Given the description of an element on the screen output the (x, y) to click on. 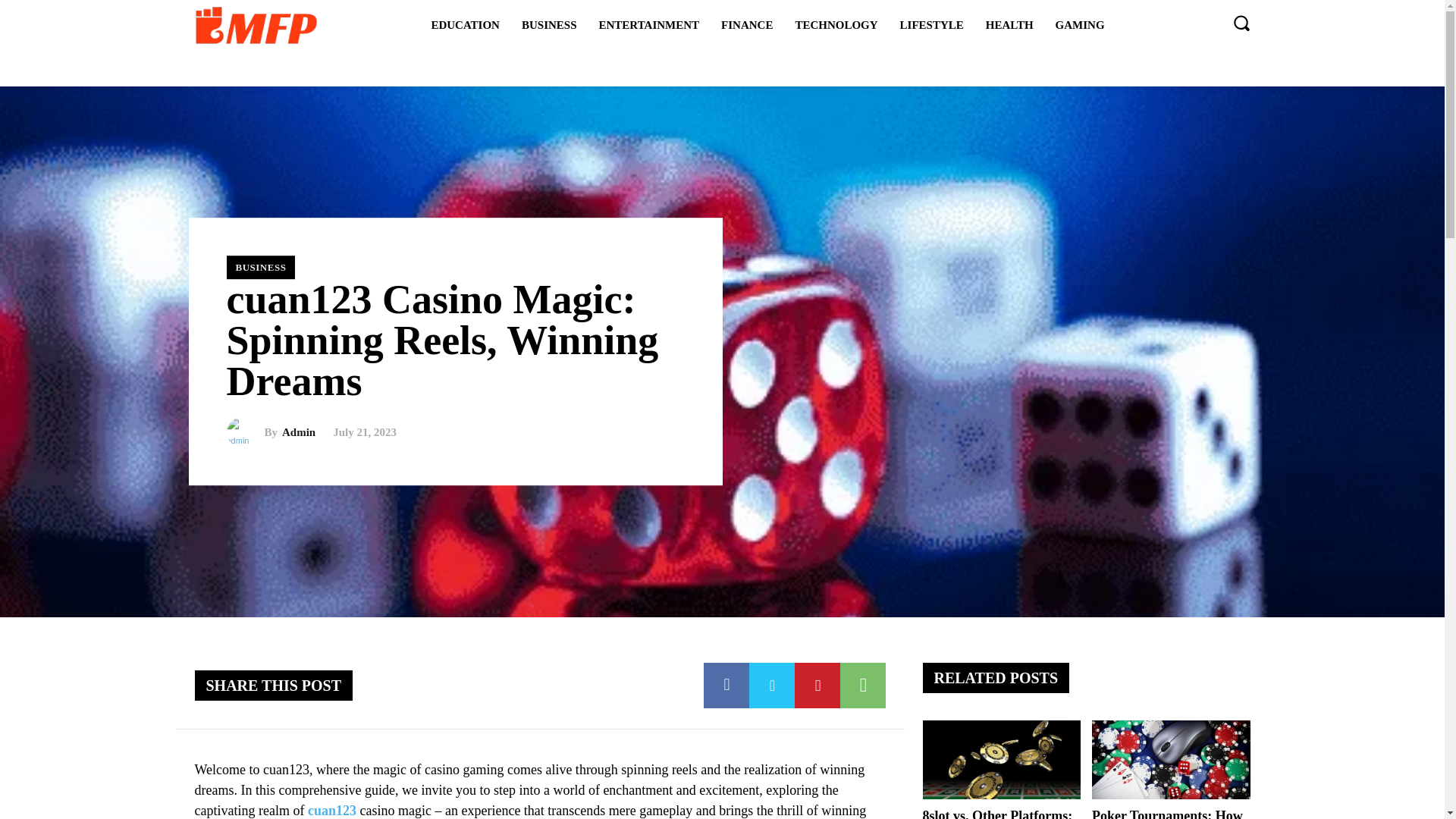
LIFESTYLE (931, 24)
WhatsApp (862, 685)
BUSINESS (260, 267)
8slot vs. Other Platforms: What Makes It the Best Choice? (996, 813)
HEALTH (1009, 24)
8slot vs. Other Platforms: What Makes It the Best Choice? (1000, 759)
GAMING (1079, 24)
admin (244, 431)
TECHNOLOGY (836, 24)
EDUCATION (465, 24)
